Given the description of an element on the screen output the (x, y) to click on. 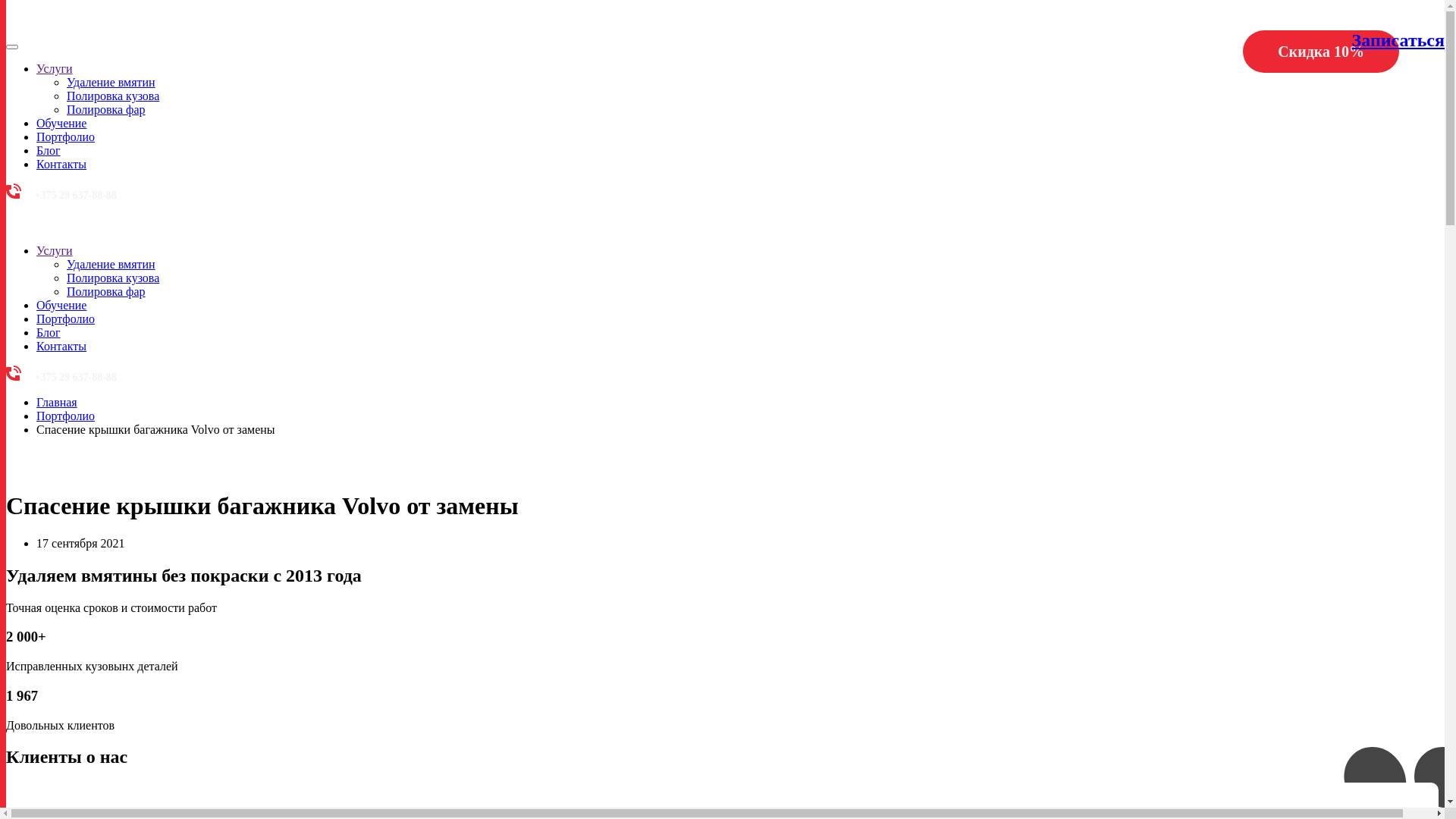
remontvmyatin.by Element type: text (35, 28)
remontvmyatin.by Element type: text (35, 223)
+375 29 637-88-88 Element type: text (61, 194)
+375 29 637-88-88 Element type: text (61, 376)
